Given the description of an element on the screen output the (x, y) to click on. 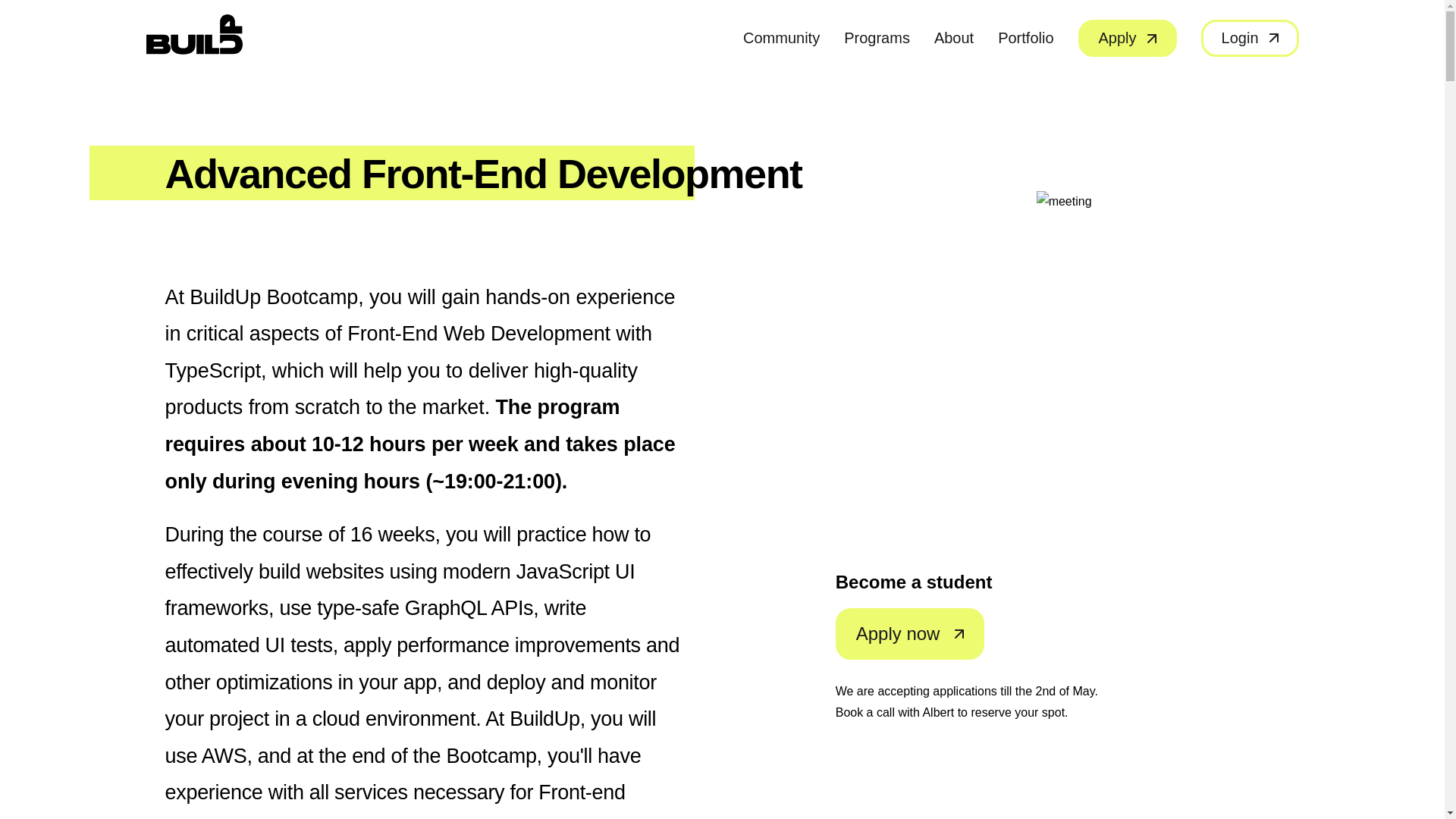
Apply (1127, 37)
Community (780, 37)
About (954, 37)
Login (1249, 37)
Portfolio (1024, 37)
Apply now (910, 634)
Programs (877, 37)
